Given the description of an element on the screen output the (x, y) to click on. 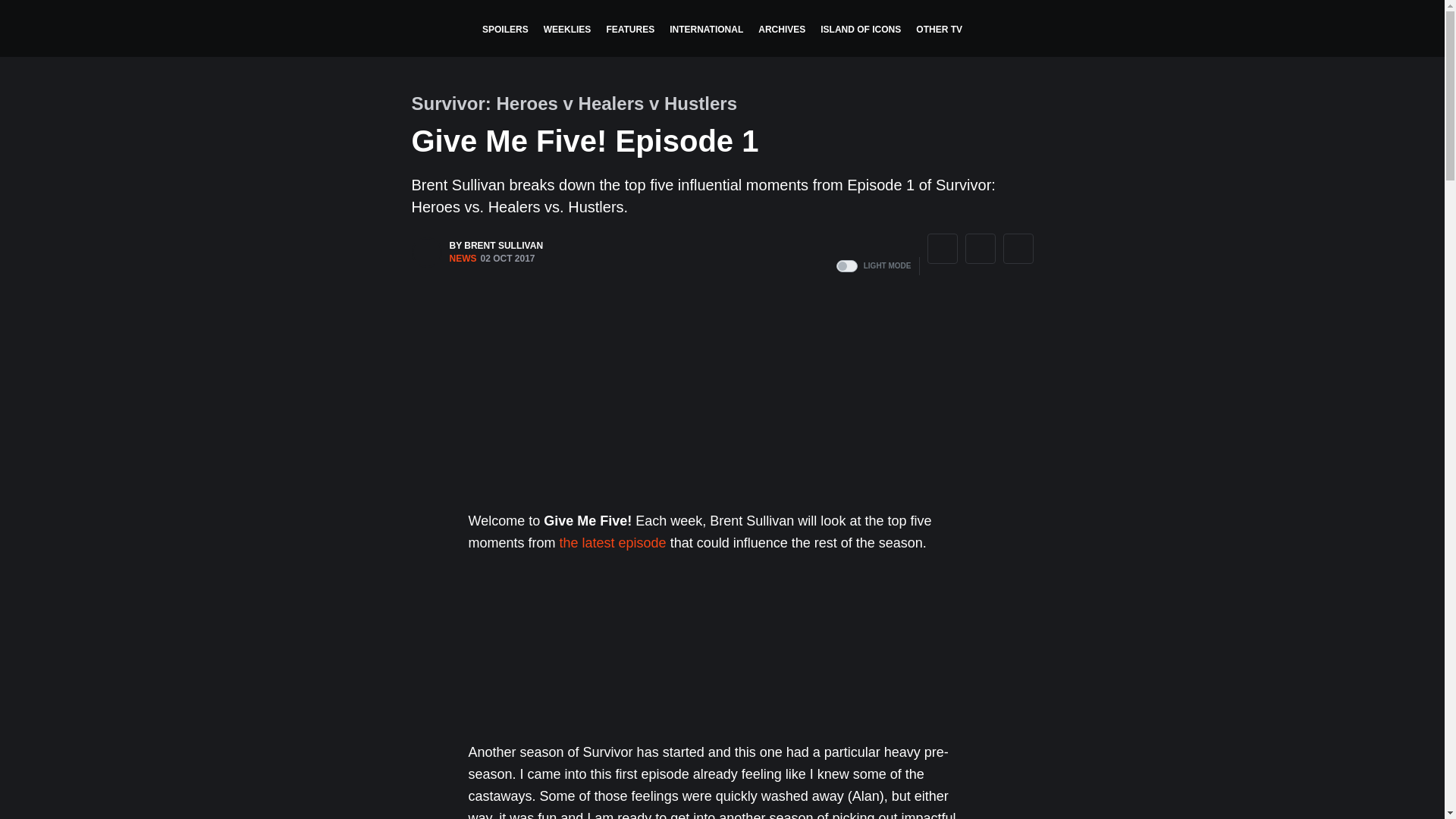
ISLAND OF ICONS (860, 30)
BY BRENT SULLIVAN (495, 245)
OTHER TV (938, 30)
SPOILERS (504, 30)
the latest episode (612, 542)
INTERNATIONAL (706, 30)
ARCHIVES (781, 30)
FEATURES (630, 30)
NEWS (462, 258)
WEEKLIES (566, 30)
